Given the description of an element on the screen output the (x, y) to click on. 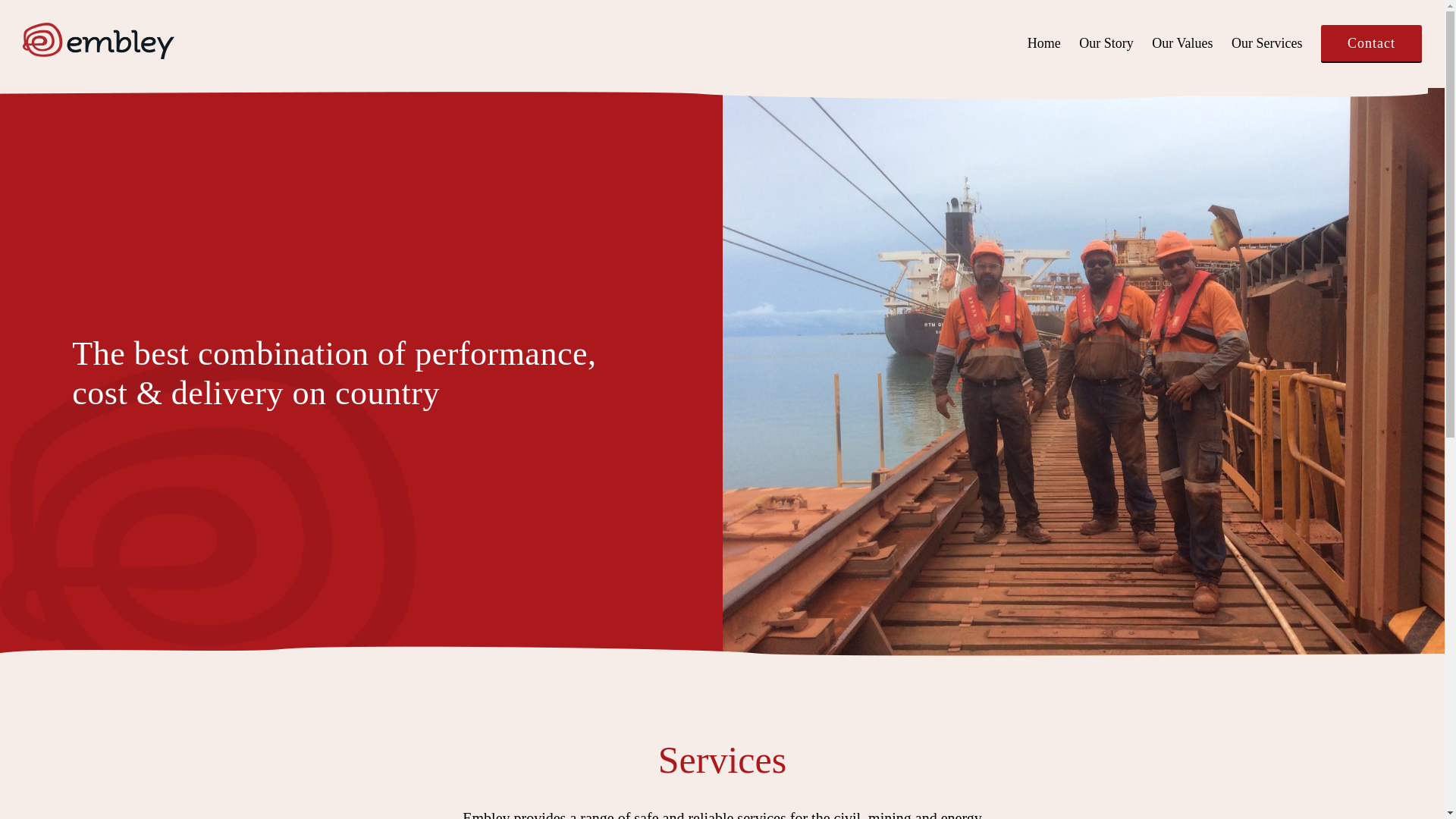
Home Element type: text (1043, 43)
Contact Element type: text (1371, 43)
Our Services Element type: text (1266, 43)
Our Values Element type: text (1182, 43)
Our Story Element type: text (1106, 43)
